Given the description of an element on the screen output the (x, y) to click on. 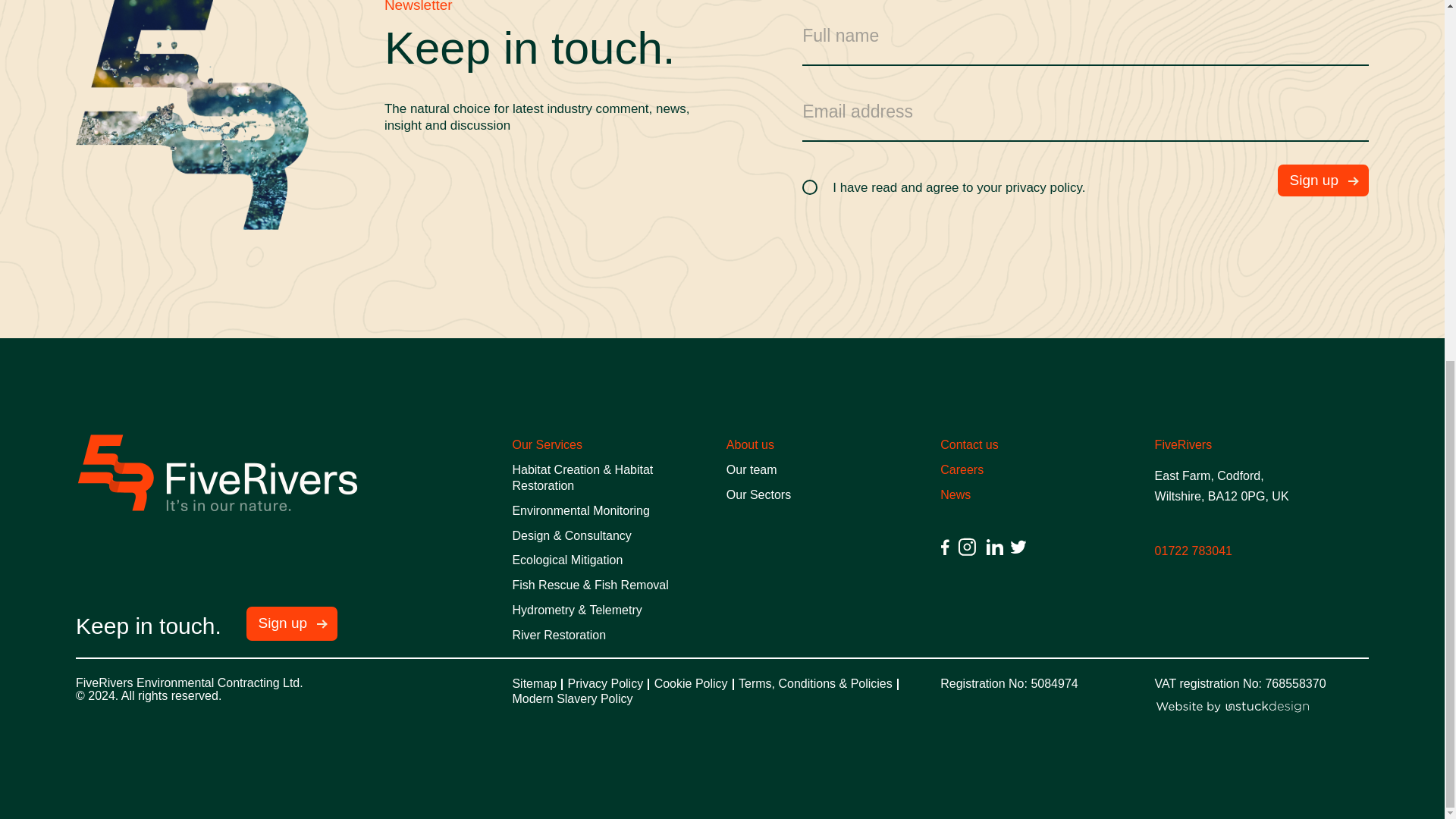
Sign up (1323, 180)
